Given the description of an element on the screen output the (x, y) to click on. 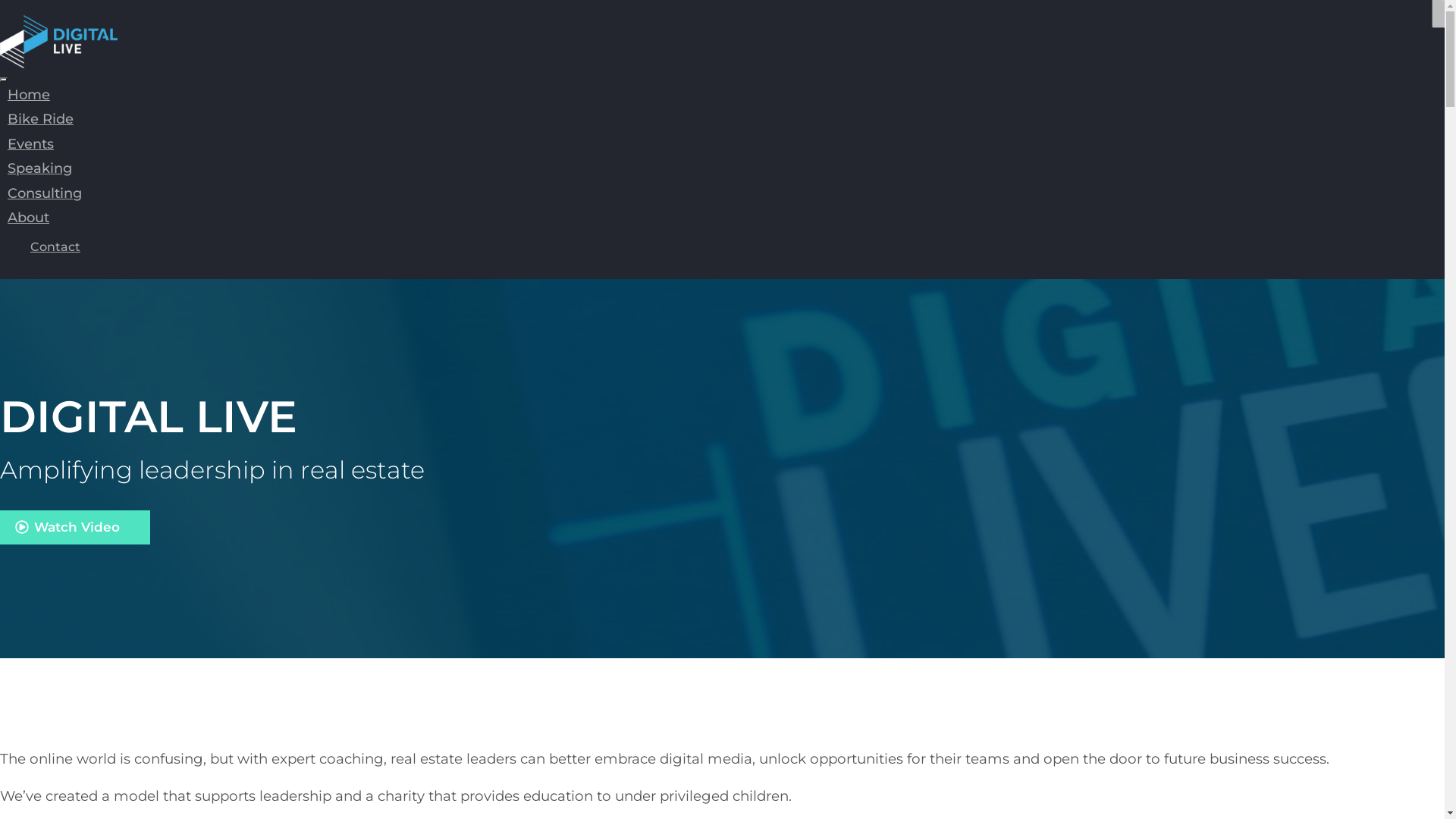
Consulting Element type: text (44, 193)
Speaking Element type: text (39, 168)
Watch Video Element type: text (75, 527)
Home Element type: text (28, 94)
Contact Element type: text (55, 246)
Bike Ride Element type: text (40, 118)
Events Element type: text (30, 143)
About Element type: text (28, 217)
